Given the description of an element on the screen output the (x, y) to click on. 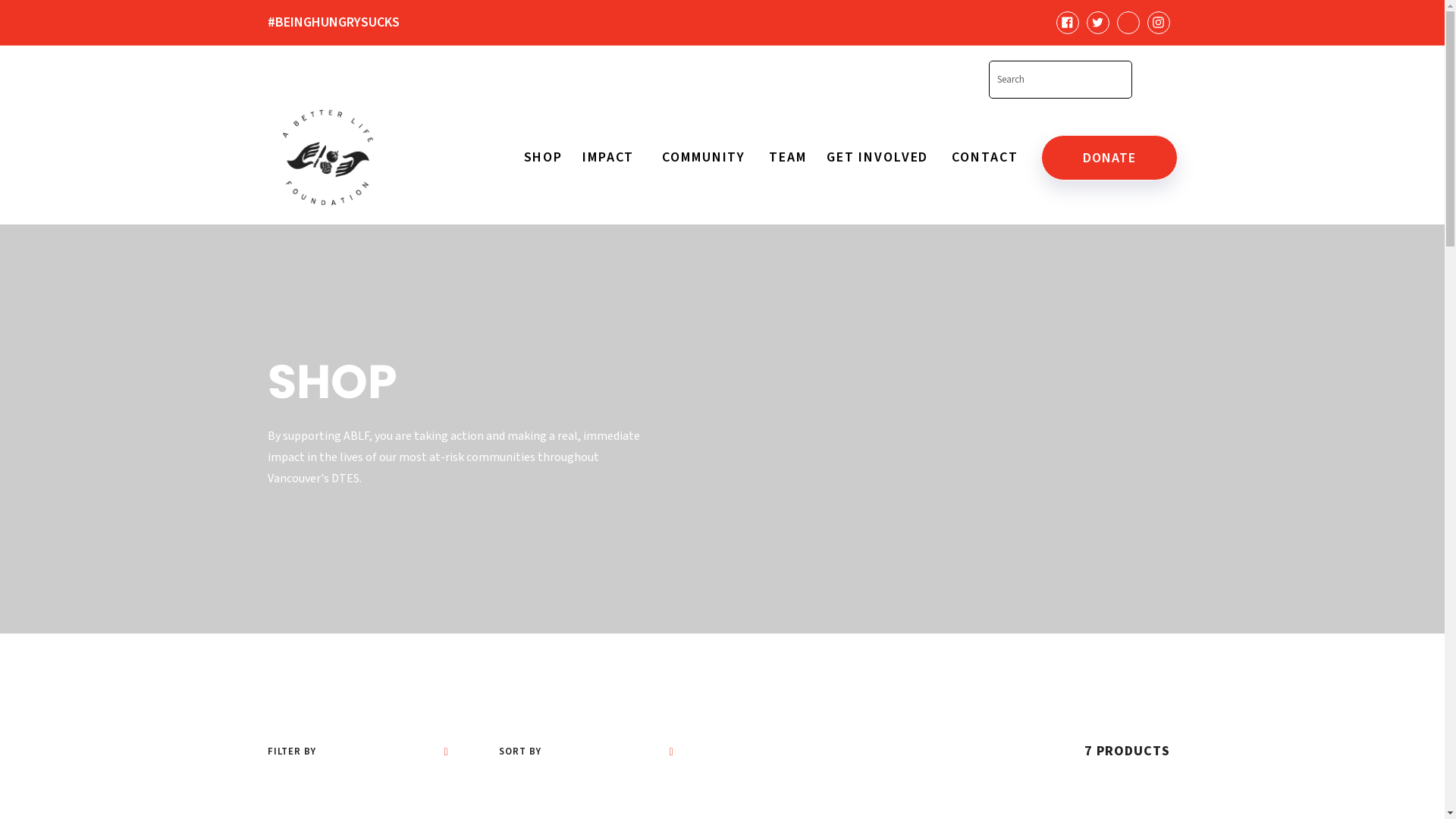
GET INVOLVED Element type: text (879, 157)
TEAM Element type: text (787, 158)
#BEINGHUNGRYSUCKS Element type: text (353, 22)
IMPACT Element type: text (609, 157)
COMMUNITY Element type: text (705, 157)
DONATE Element type: text (1108, 157)
CONTACT Element type: text (984, 158)
SHOP Element type: text (542, 158)
